Given the description of an element on the screen output the (x, y) to click on. 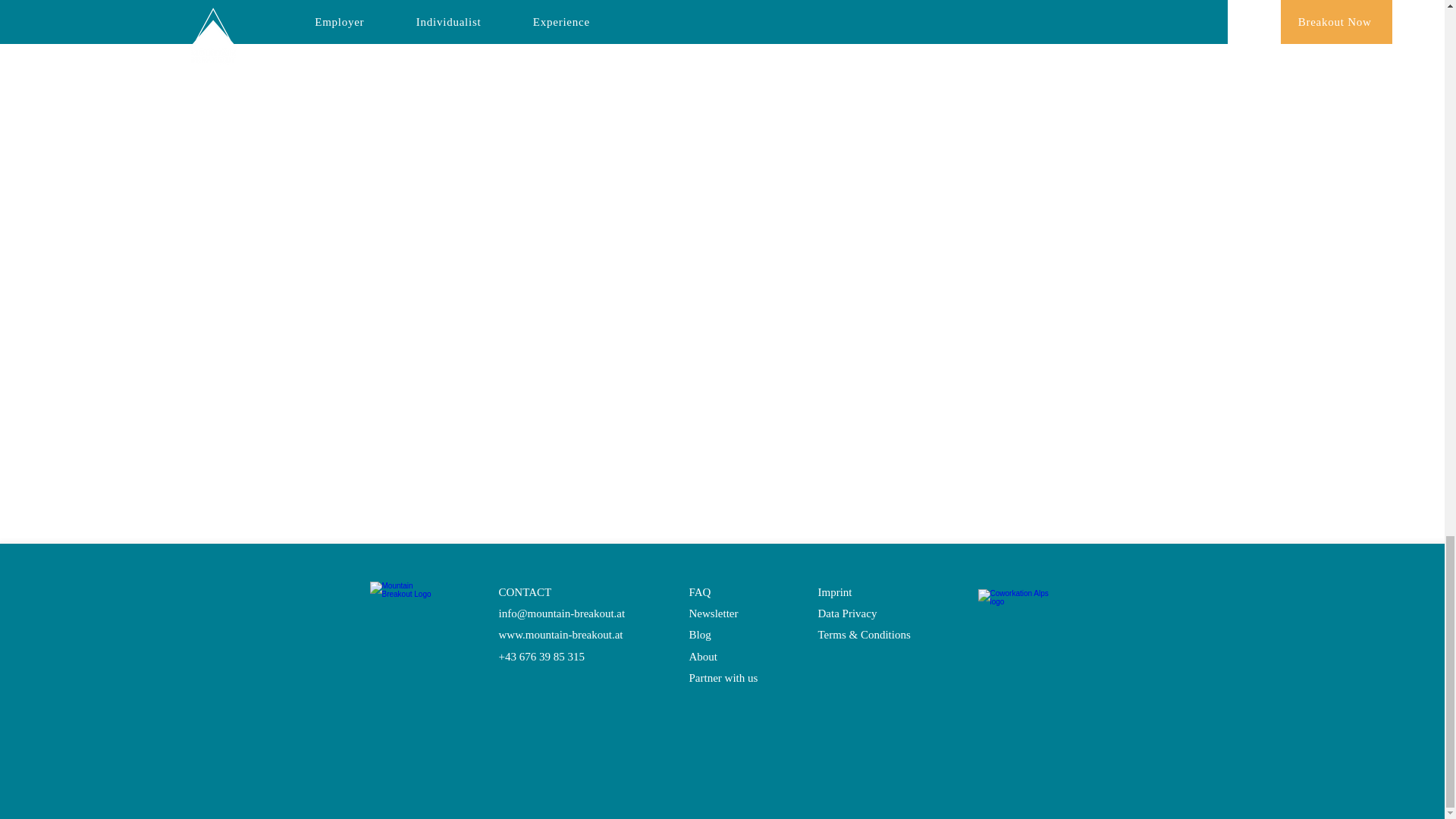
Newsletter (713, 613)
Use Case: Coworkation for a better work-life balance (476, 28)
Certified by (1021, 613)
FAQ (699, 592)
www.mountain-breakout.at (561, 634)
Blog (699, 634)
Data Privacy (846, 613)
Partner with us (722, 677)
About (702, 656)
